Given the description of an element on the screen output the (x, y) to click on. 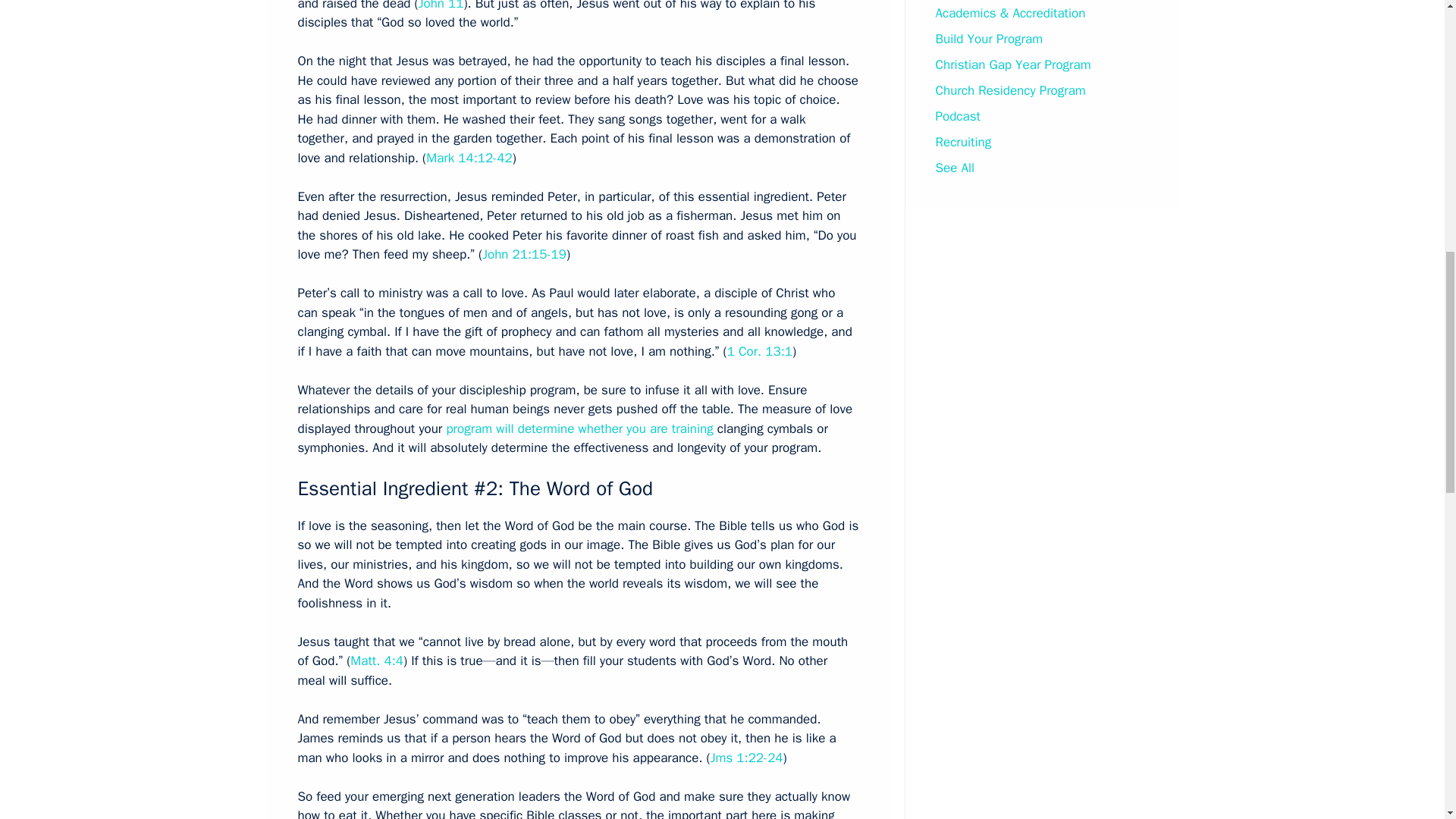
Matt. 4:4 (376, 660)
1 Cor. 13:1 (759, 351)
John 11 (441, 5)
program will determine whether you are training (579, 428)
Mark 14:12-42 (469, 157)
John 21:15-19 (523, 254)
Jms 1:22-24 (746, 757)
